Given the description of an element on the screen output the (x, y) to click on. 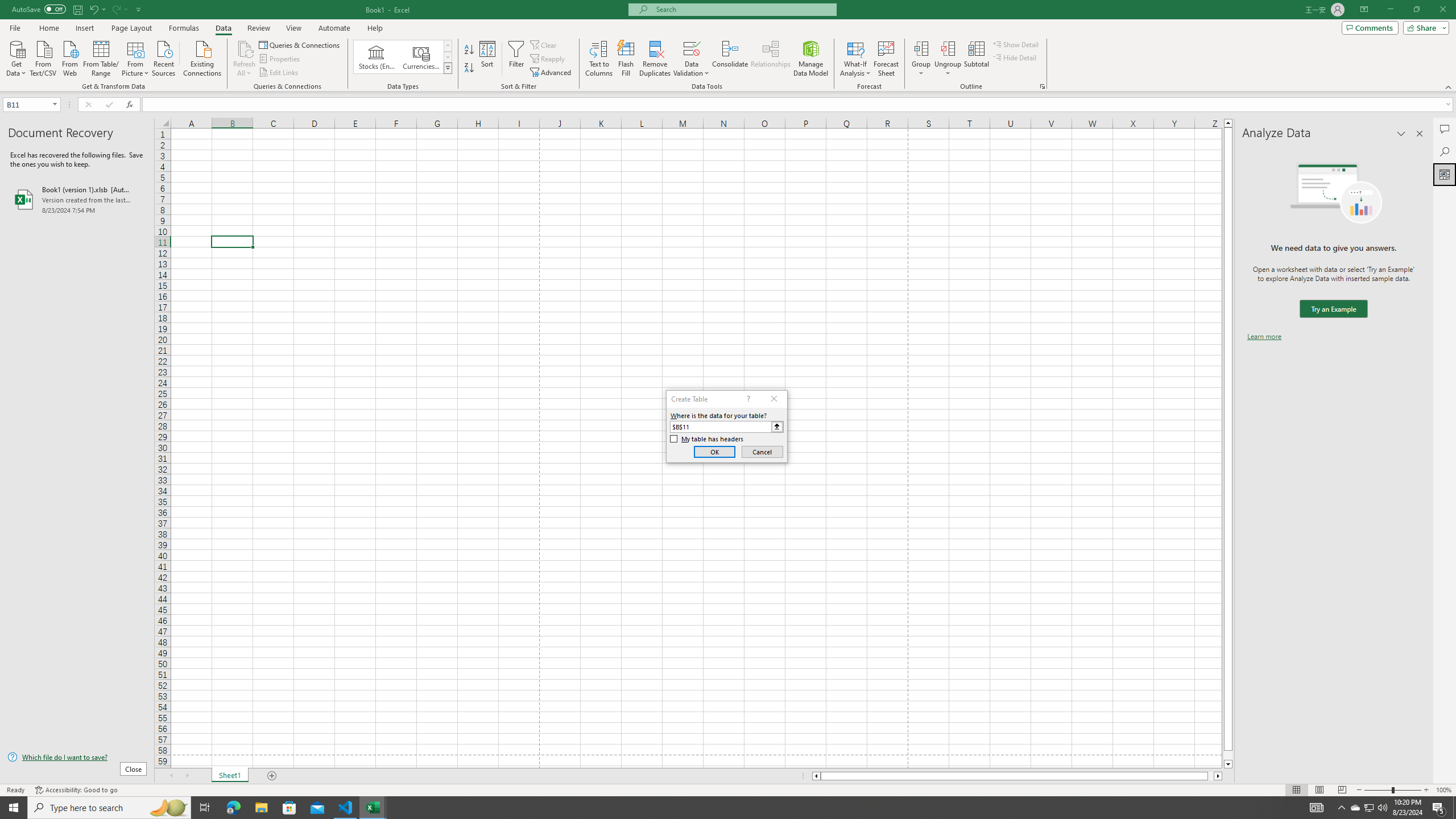
System (6, 6)
Restore Down (1416, 9)
Group and Outline Settings (1042, 85)
Remove Duplicates (654, 58)
Data Types (448, 67)
AutoSave (38, 9)
Flash Fill (625, 58)
Microsoft search (742, 9)
Normal (1296, 790)
Consolidate... (729, 58)
Hide Detail (1014, 56)
Show Detail (1016, 44)
Home (48, 28)
Get Data (16, 57)
Column left (815, 775)
